Given the description of an element on the screen output the (x, y) to click on. 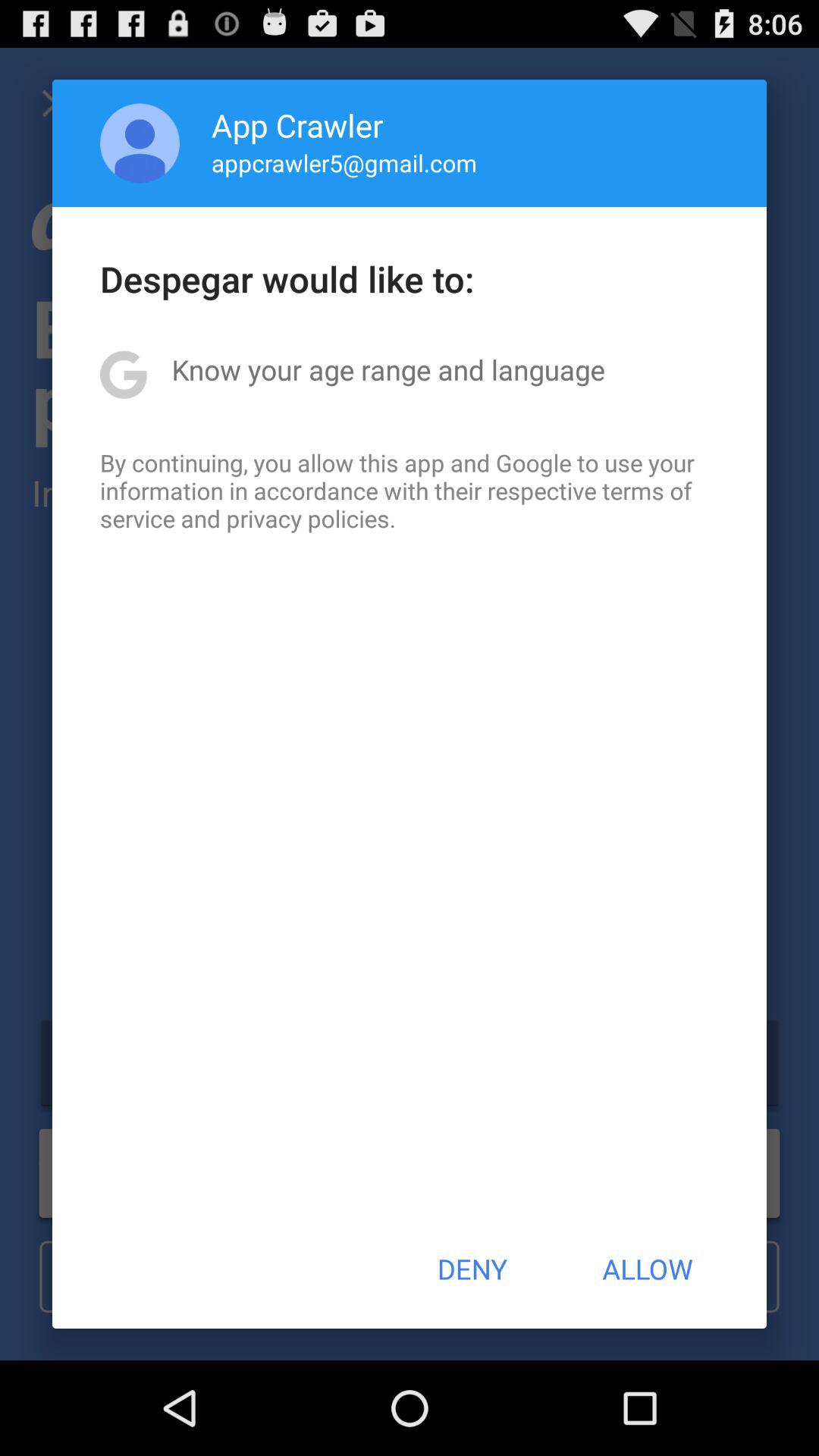
choose item next to app crawler icon (139, 143)
